Given the description of an element on the screen output the (x, y) to click on. 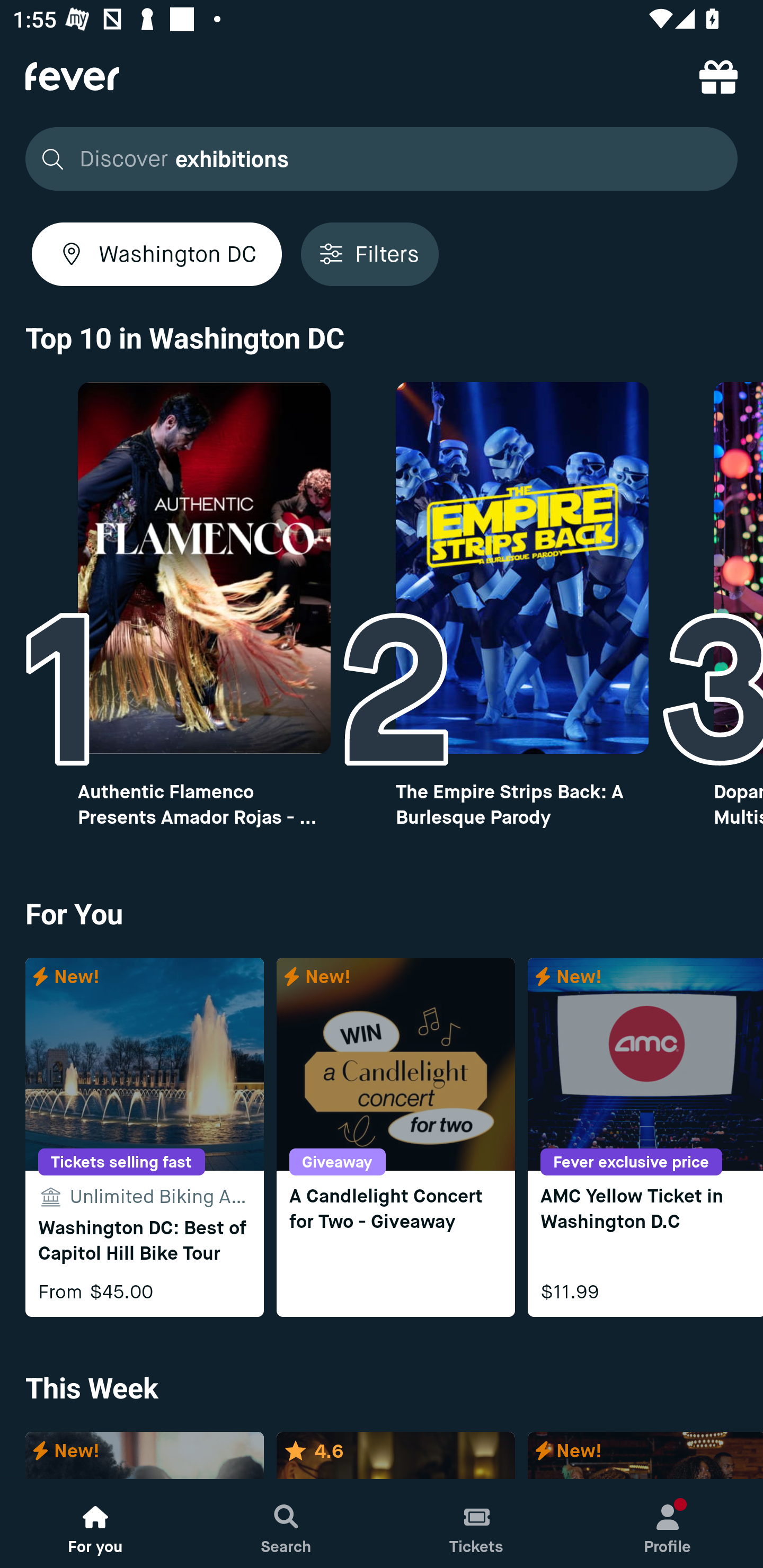
referral (718, 75)
Discover exhibitions (381, 158)
Discover exhibitions (376, 158)
Washington DC (156, 253)
Filters (369, 253)
Top10 image (203, 568)
Top10 image (521, 568)
Search (285, 1523)
Tickets (476, 1523)
Profile, New notification Profile (667, 1523)
